Given the description of an element on the screen output the (x, y) to click on. 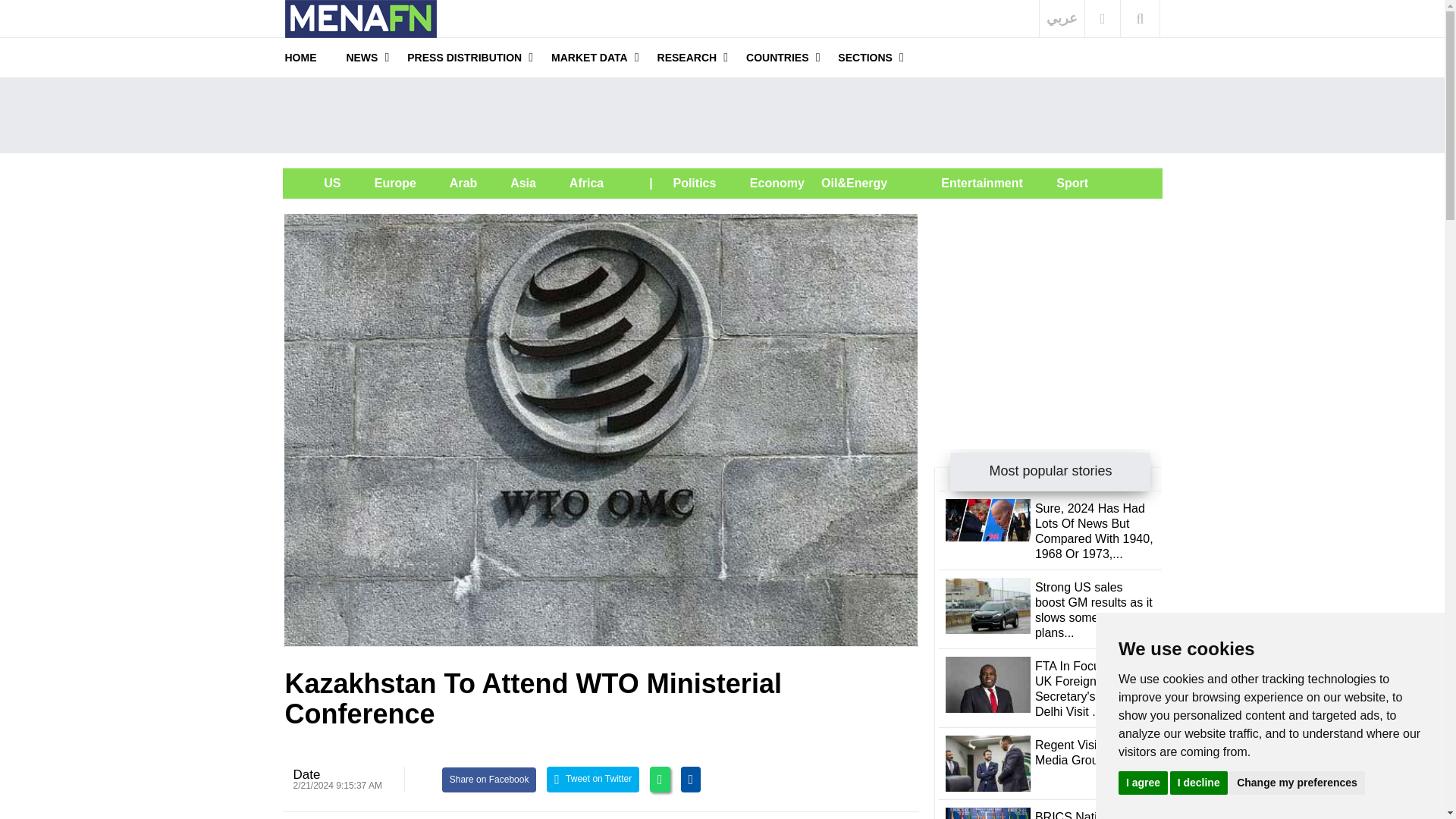
MARKET DATA (589, 56)
Posts by NewEdge (306, 774)
Advertisement (721, 115)
Advertisement (1047, 308)
I decline (1198, 781)
Change my preferences (1296, 781)
PRESS DISTRIBUTION (464, 56)
I agree (1142, 781)
